Given the description of an element on the screen output the (x, y) to click on. 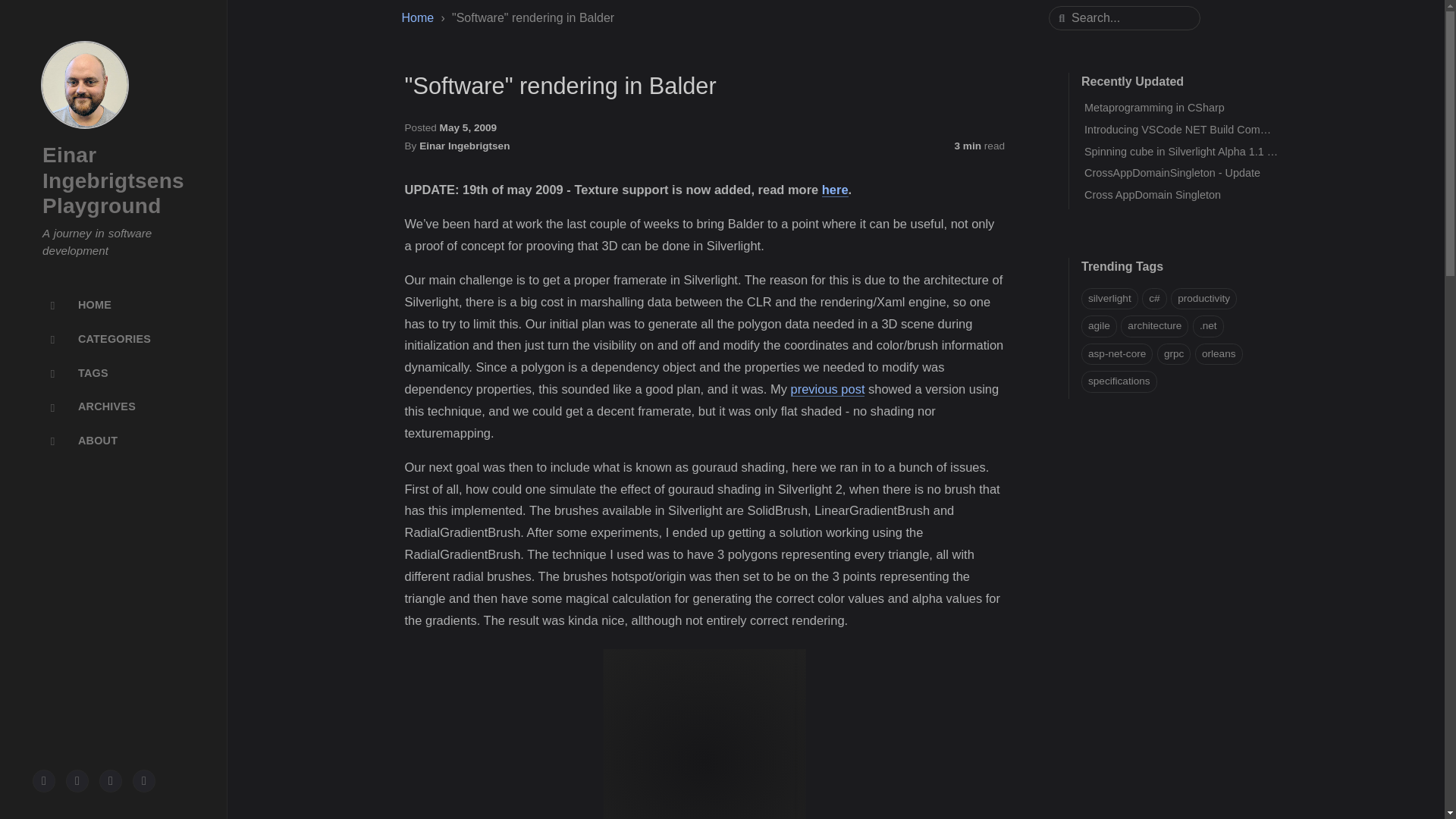
previous post (827, 389)
here (835, 189)
ABOUT (113, 441)
TAGS (113, 373)
Introducing VSCode NET Build Commands (1188, 129)
Metaprogramming in CSharp (1154, 107)
678 words (978, 146)
HOME (113, 305)
Home (417, 17)
ARCHIVES (113, 407)
